Given the description of an element on the screen output the (x, y) to click on. 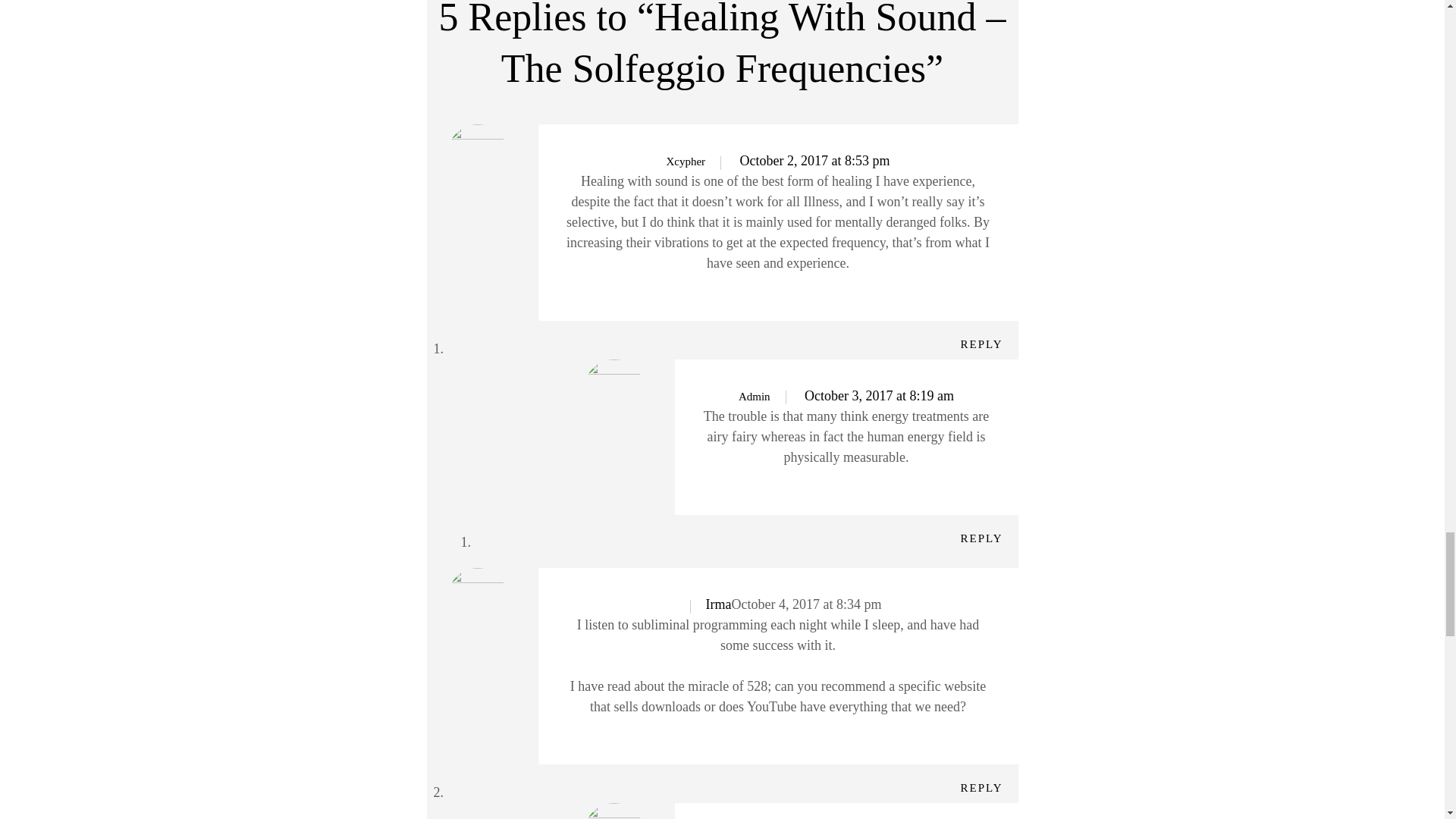
REPLY (981, 344)
Xcypher October 2, 2017 at 8:53 pm (777, 160)
REPLY (981, 787)
Admin October 3, 2017 at 8:19 am (845, 395)
REPLY (981, 538)
Irma (719, 604)
